Given the description of an element on the screen output the (x, y) to click on. 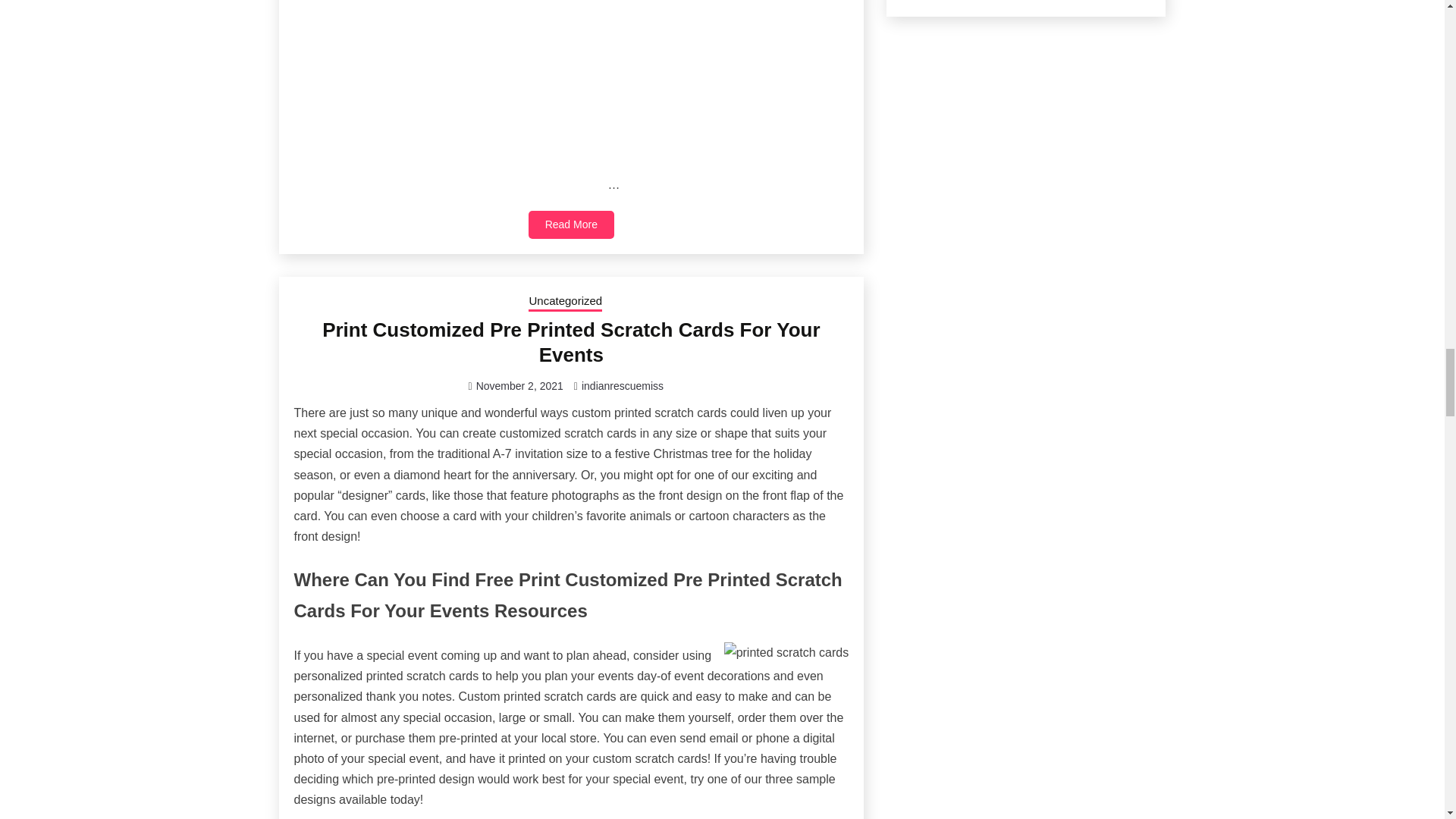
Uncategorized (565, 302)
Read More (571, 224)
